Given the description of an element on the screen output the (x, y) to click on. 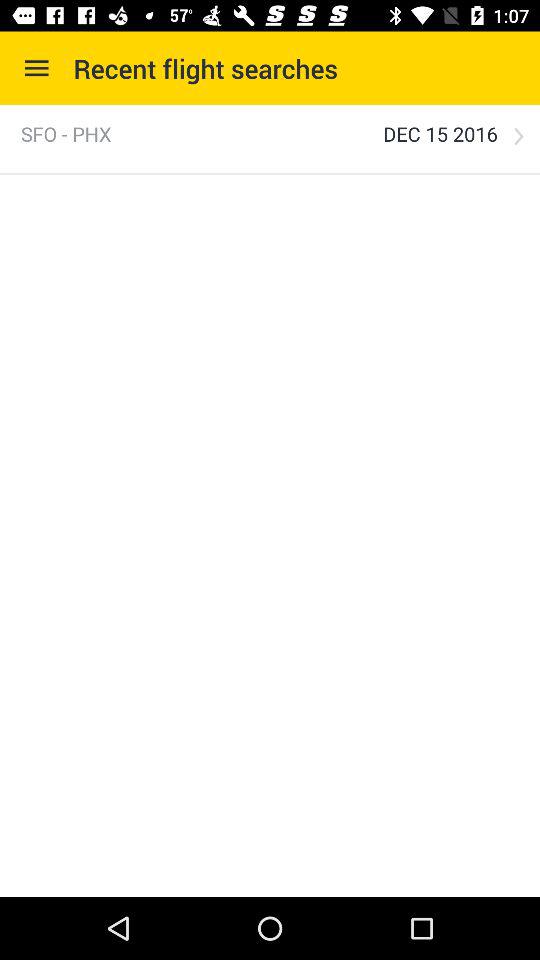
turn on the item next to the recent flight searches icon (36, 68)
